Given the description of an element on the screen output the (x, y) to click on. 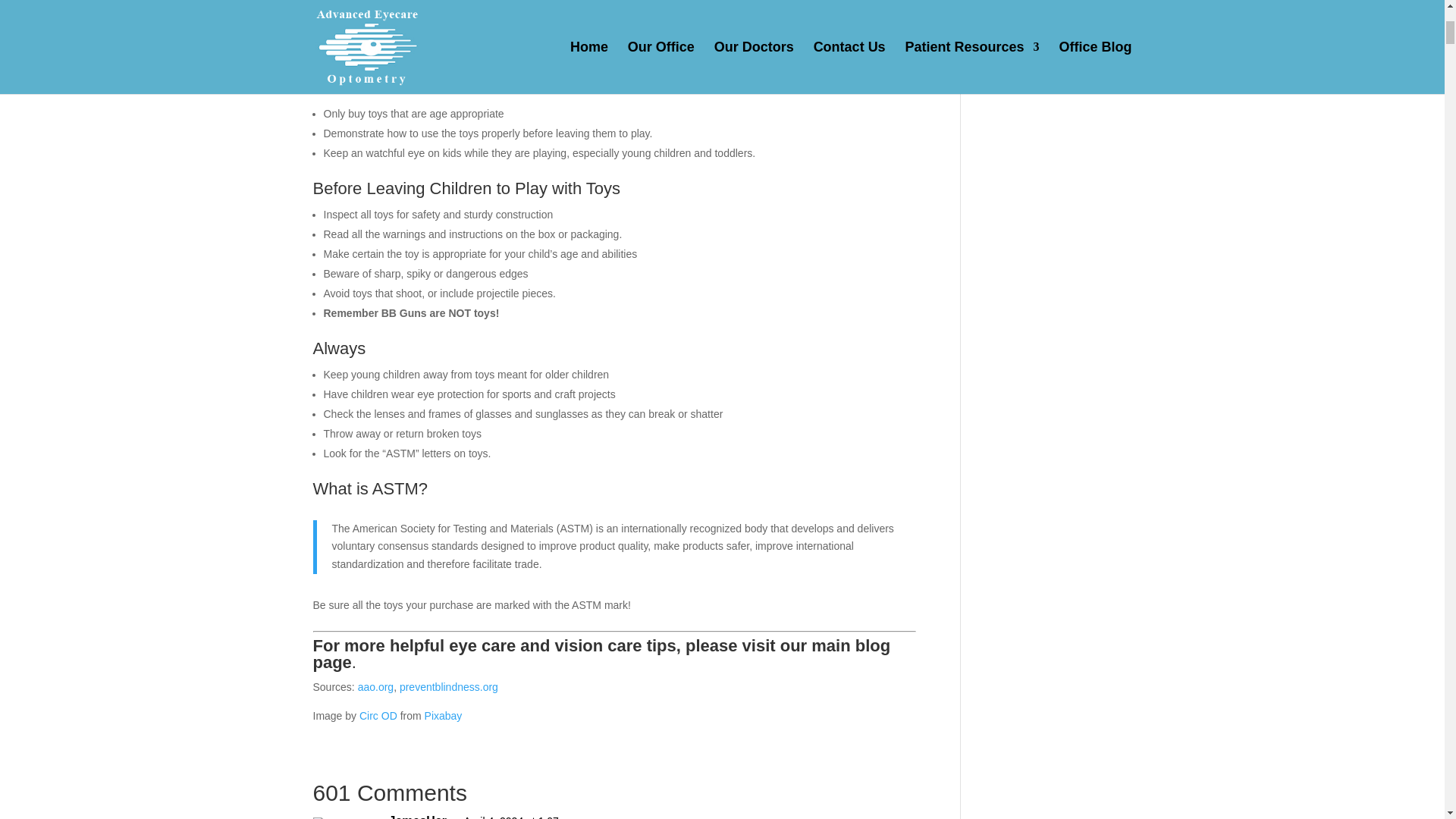
aao.org (375, 686)
preventblindness.org (447, 686)
main blog page (601, 653)
Pixabay (444, 715)
Circ OD (378, 715)
